Given the description of an element on the screen output the (x, y) to click on. 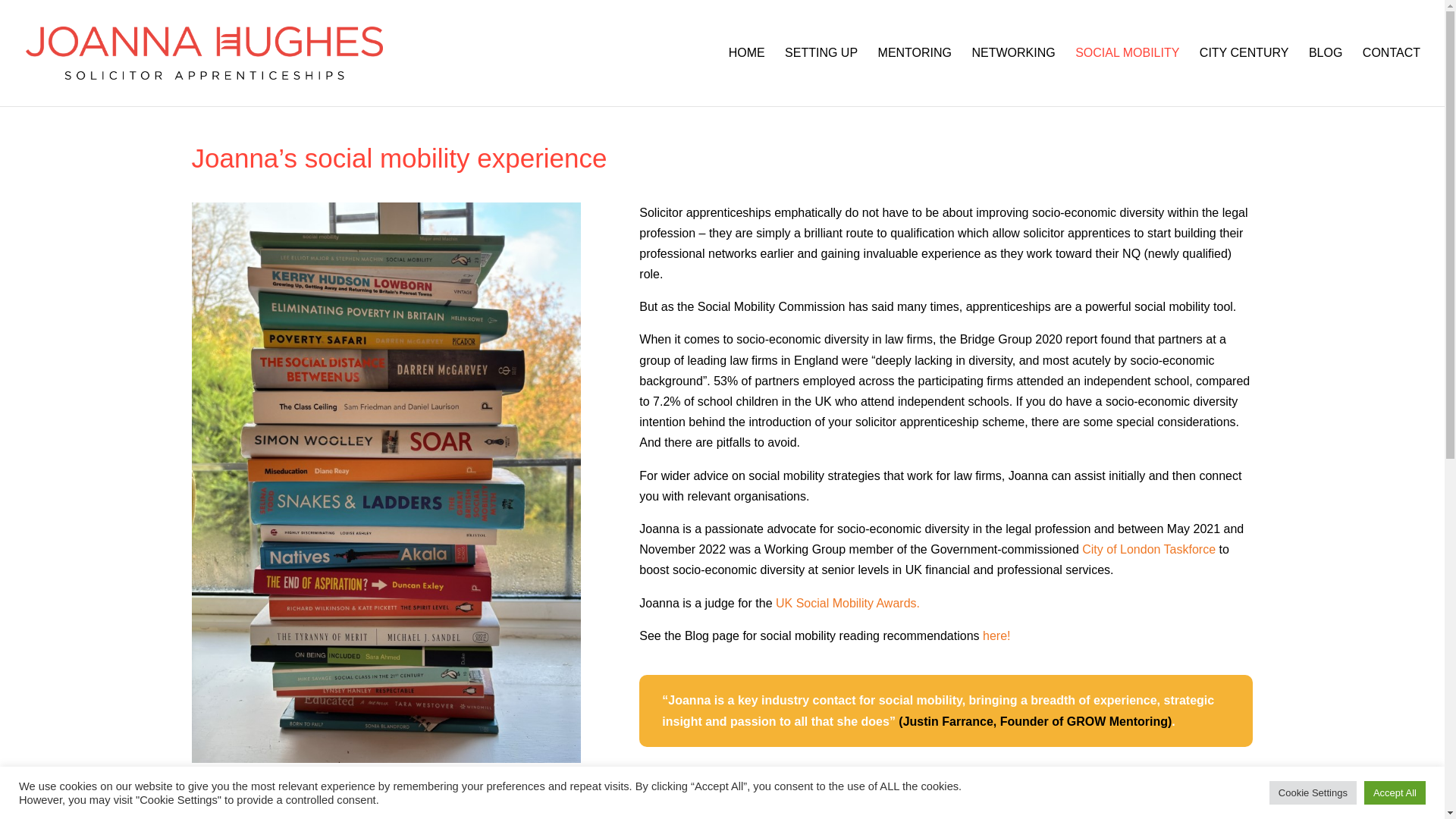
Cookie Settings (1312, 792)
NETWORKING (1012, 76)
SETTING UP (820, 76)
City of London Taskforce (1148, 549)
MENTORING (914, 76)
UK Social Mobility Awards. (848, 602)
SOCIAL MOBILITY (1127, 76)
CONTACT (1391, 76)
BOOK A CALL OR MEETING WITH JOANNA (946, 792)
CITY CENTURY (1243, 76)
Accept All (1394, 792)
here! (996, 635)
